Given the description of an element on the screen output the (x, y) to click on. 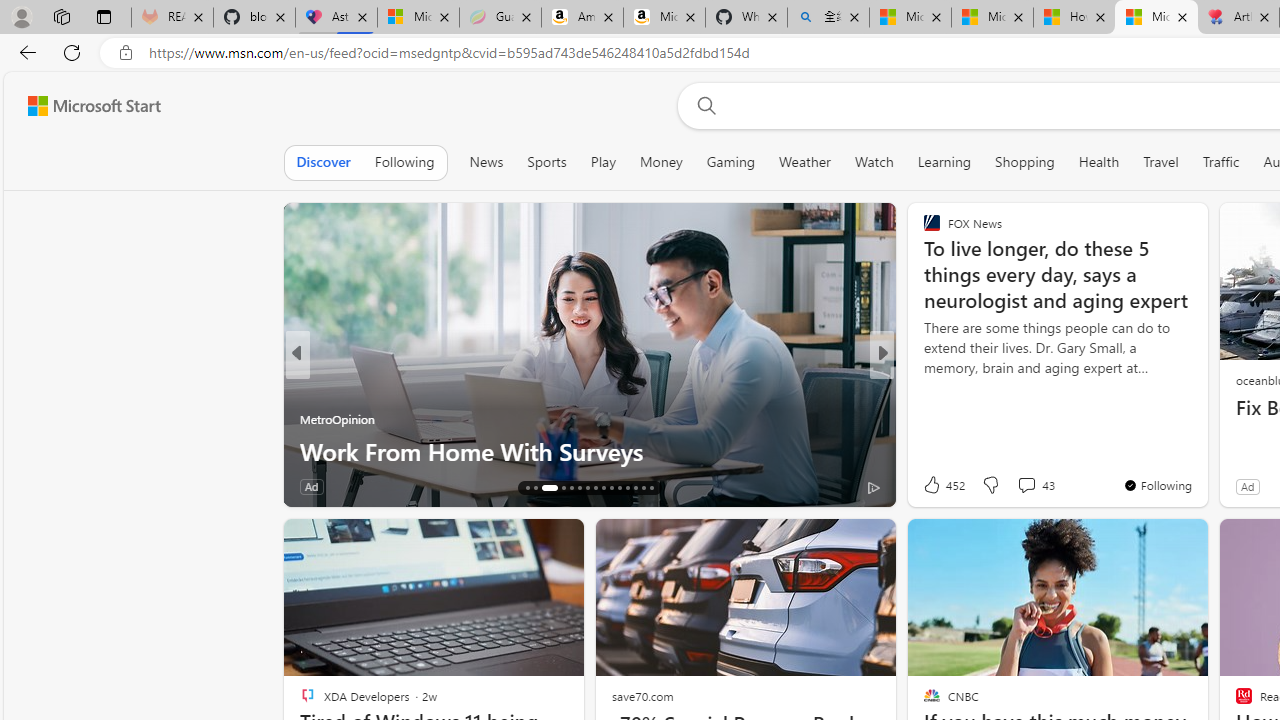
Learning (944, 161)
AutomationID: tab-22 (586, 487)
Sports (546, 161)
Daily Meal (307, 418)
14 Things To Avoid Ordering At Wendy's And Why (589, 450)
AutomationID: tab-18 (542, 487)
News (485, 162)
AutomationID: tab-20 (571, 487)
182 Like (936, 486)
Learning (944, 162)
See more (1183, 542)
Following (404, 161)
AutomationID: tab-21 (578, 487)
AutomationID: tab-16 (527, 487)
